Given the description of an element on the screen output the (x, y) to click on. 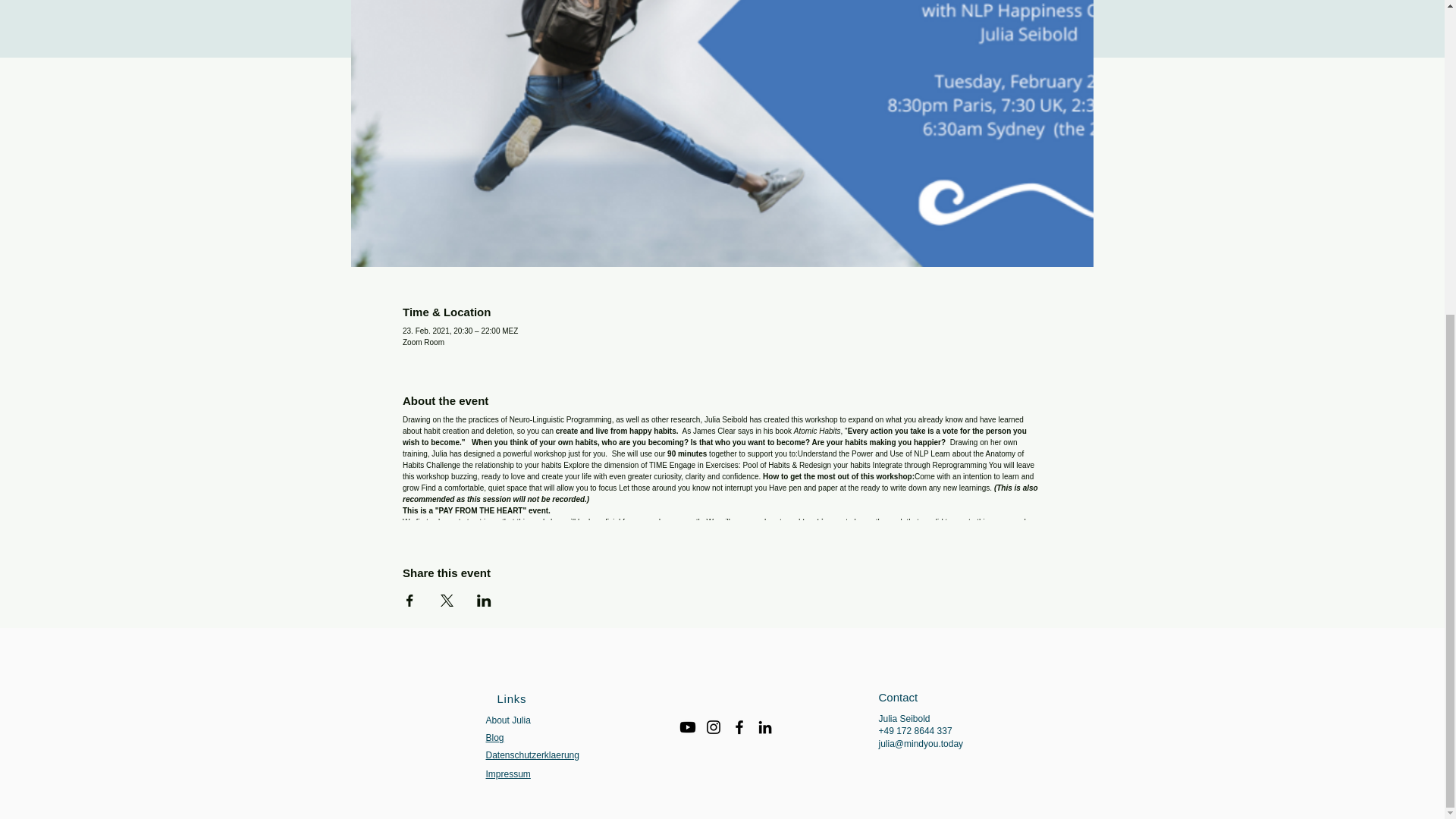
Datenschutzerklaerung (531, 755)
Impressum (506, 774)
Blog (493, 737)
